Given the description of an element on the screen output the (x, y) to click on. 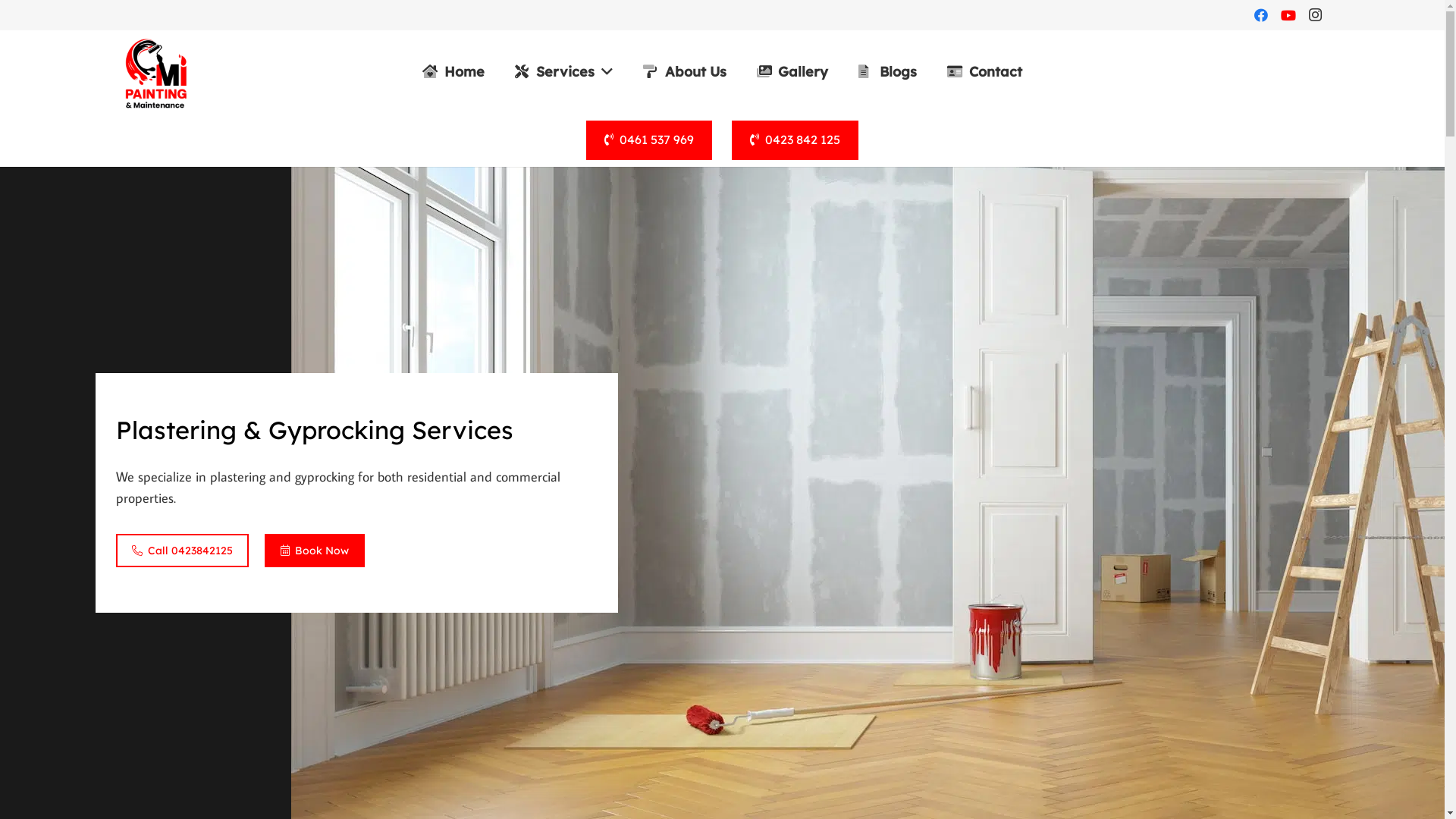
About Us Element type: text (683, 71)
Fence Demolition Element type: text (478, 260)
Kitchen Demolition Element type: text (483, 300)
Exterior Painting Element type: text (161, 142)
LinkedIn Element type: hover (998, 685)
Facebook Element type: hover (813, 685)
About Us Element type: text (1082, 182)
YouTube Element type: hover (1287, 14)
Flooring Demolition Element type: text (484, 380)
Gallery Element type: text (1075, 221)
Facebook Element type: hover (1260, 14)
Tumblr Element type: hover (1146, 685)
Houzz Element type: hover (961, 685)
Sitemap Element type: text (1079, 260)
Roofing Demolition Element type: text (483, 182)
Basement Demolition Element type: text (490, 537)
Twitter Element type: hover (1184, 685)
Wall Demolition Element type: text (474, 142)
Interior Painting Element type: text (160, 102)
TikTok Element type: hover (1110, 685)
Pressure Cleaning Element type: text (165, 300)
Internal Demolition Element type: text (484, 577)
Services Element type: text (563, 71)
Quora Element type: hover (1259, 685)
Home Element type: text (452, 71)
Ceiling Demolition Element type: text (481, 458)
Decoration Element type: text (145, 380)
0461 537 969 Element type: text (649, 139)
Call 0423842125 Element type: text (181, 550)
Gallery Element type: text (792, 71)
Plastering Element type: text (142, 182)
Reddit Element type: hover (1072, 685)
Instagram Element type: hover (1314, 14)
Gyprock Element type: text (137, 221)
Flickr Element type: hover (923, 685)
Blogs Element type: text (887, 71)
0423 842 125 Element type: text (794, 139)
Laundry Demolition Element type: text (485, 419)
YouTube Element type: hover (887, 685)
Terms and Conditions Element type: text (1117, 102)
Pinterest Element type: hover (1036, 685)
Linkt.ree Element type: hover (1221, 685)
Fence Painting Element type: text (156, 419)
Painter Penrith Element type: text (785, 142)
Painter Parramatta Element type: text (796, 102)
Commercial Painters Element type: text (173, 458)
Instagram Element type: hover (849, 685)
Nifty Marketing Australia Element type: text (816, 780)
Shed Demolition Element type: text (476, 221)
Garage Demolition Element type: text (482, 340)
Privacy Policy Element type: text (1092, 142)
Book Now Element type: text (314, 550)
Shower Demolition Element type: text (482, 102)
Spray Paint Element type: text (147, 260)
Contact Element type: text (983, 71)
Strip Out Demolition Element type: text (488, 617)
Timber Varnish Element type: text (157, 340)
Mi Painting Element type: text (634, 780)
Bathroom Demolition Element type: text (490, 498)
